Given the description of an element on the screen output the (x, y) to click on. 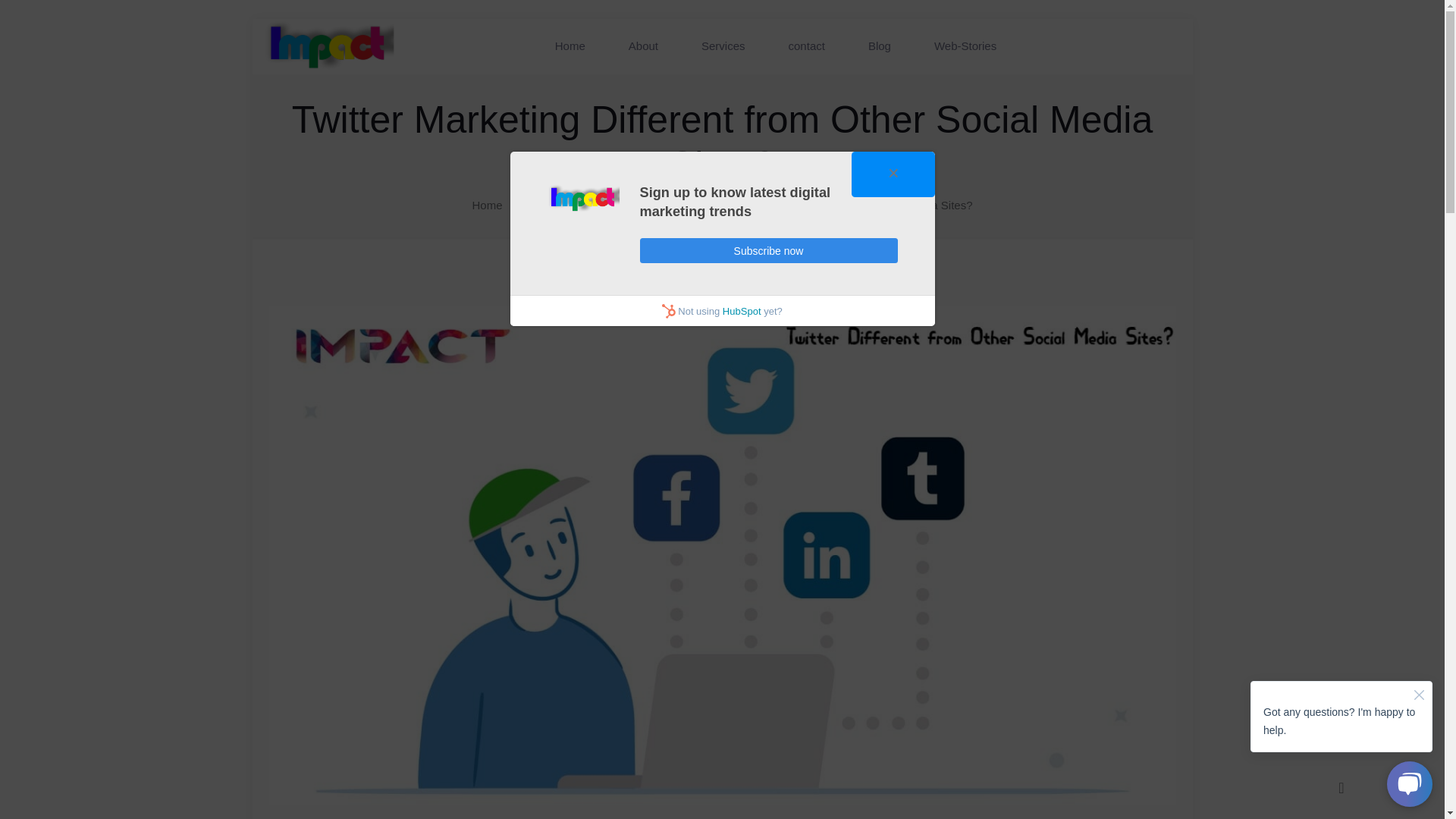
Web-Stories (836, 54)
Home (486, 205)
Blog (543, 205)
Blog (779, 55)
contact (753, 57)
Home (721, 60)
About (722, 59)
Social Media (617, 205)
Services (737, 58)
